Given the description of an element on the screen output the (x, y) to click on. 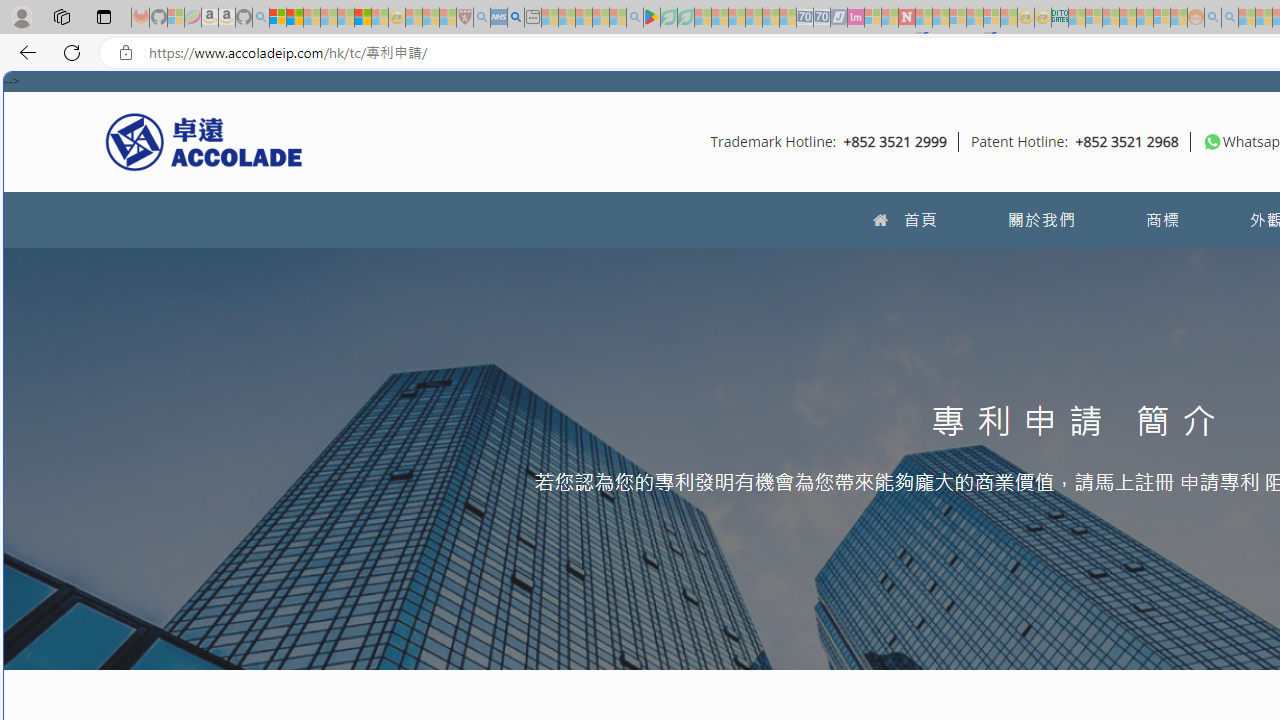
Terms of Use Agreement - Sleeping (668, 17)
New Report Confirms 2023 Was Record Hot | Watch - Sleeping (345, 17)
14 Common Myths Debunked By Scientific Facts - Sleeping (940, 17)
Kinda Frugal - MSN - Sleeping (1144, 17)
